Given the description of an element on the screen output the (x, y) to click on. 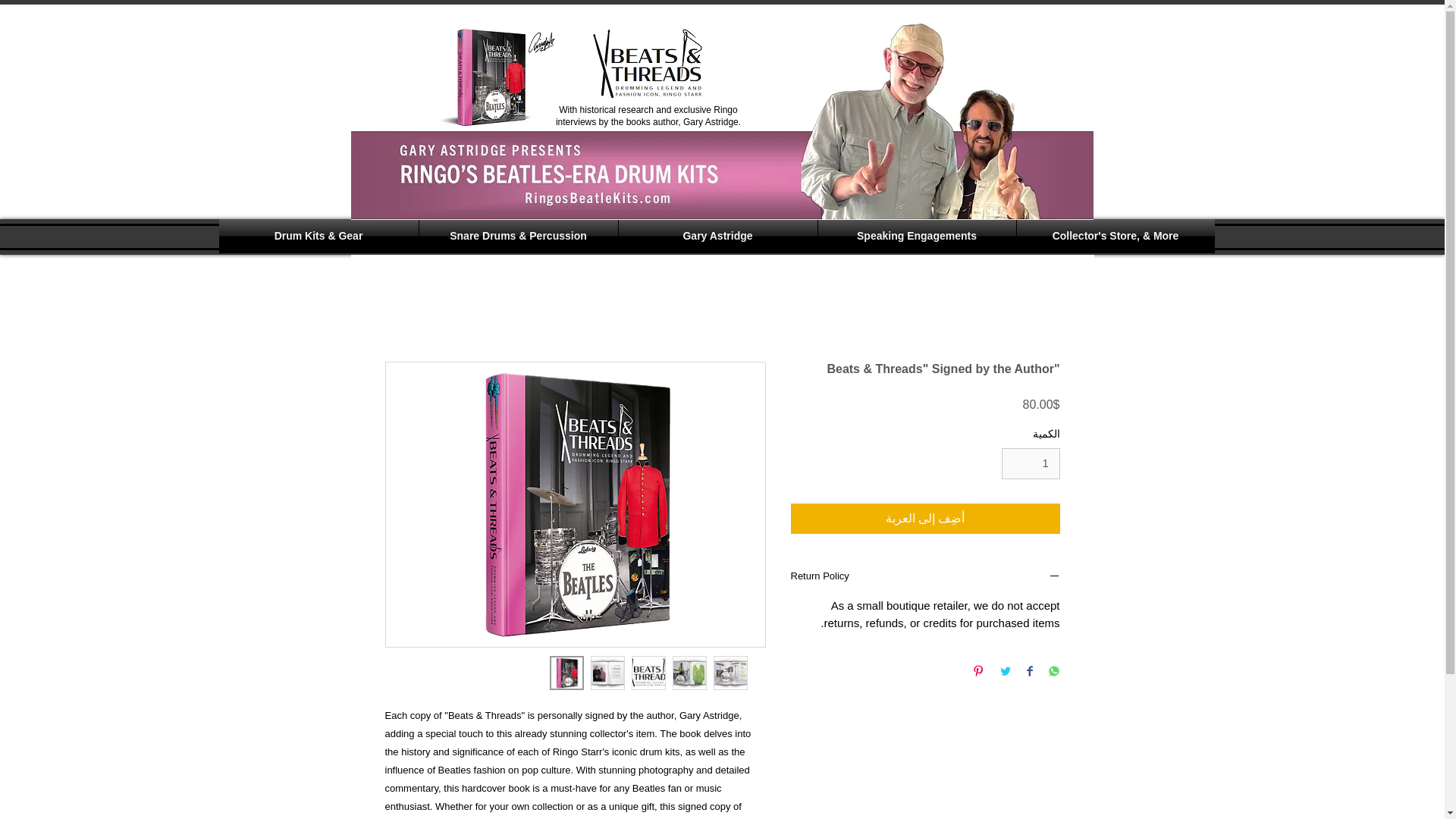
1 (1030, 463)
Speaking Engagements (915, 236)
Return Policy (924, 577)
Gary Astridge (717, 236)
